Given the description of an element on the screen output the (x, y) to click on. 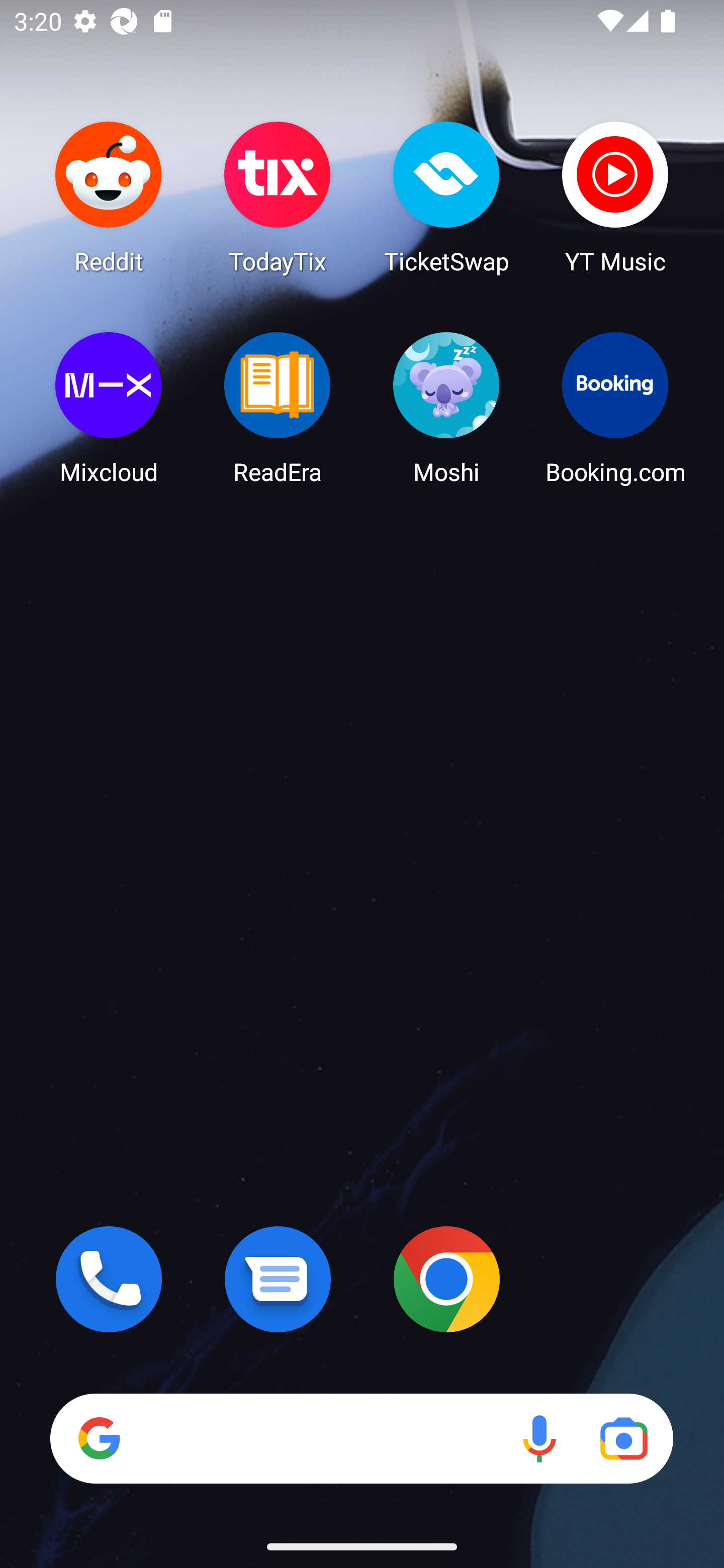
Reddit (108, 196)
TodayTix (277, 196)
TicketSwap (445, 196)
YT Music (615, 196)
Mixcloud (108, 407)
ReadEra (277, 407)
Moshi (445, 407)
Booking.com (615, 407)
Phone (108, 1279)
Messages (277, 1279)
Chrome (446, 1279)
Search Voice search Google Lens (361, 1438)
Voice search (539, 1438)
Google Lens (623, 1438)
